Given the description of an element on the screen output the (x, y) to click on. 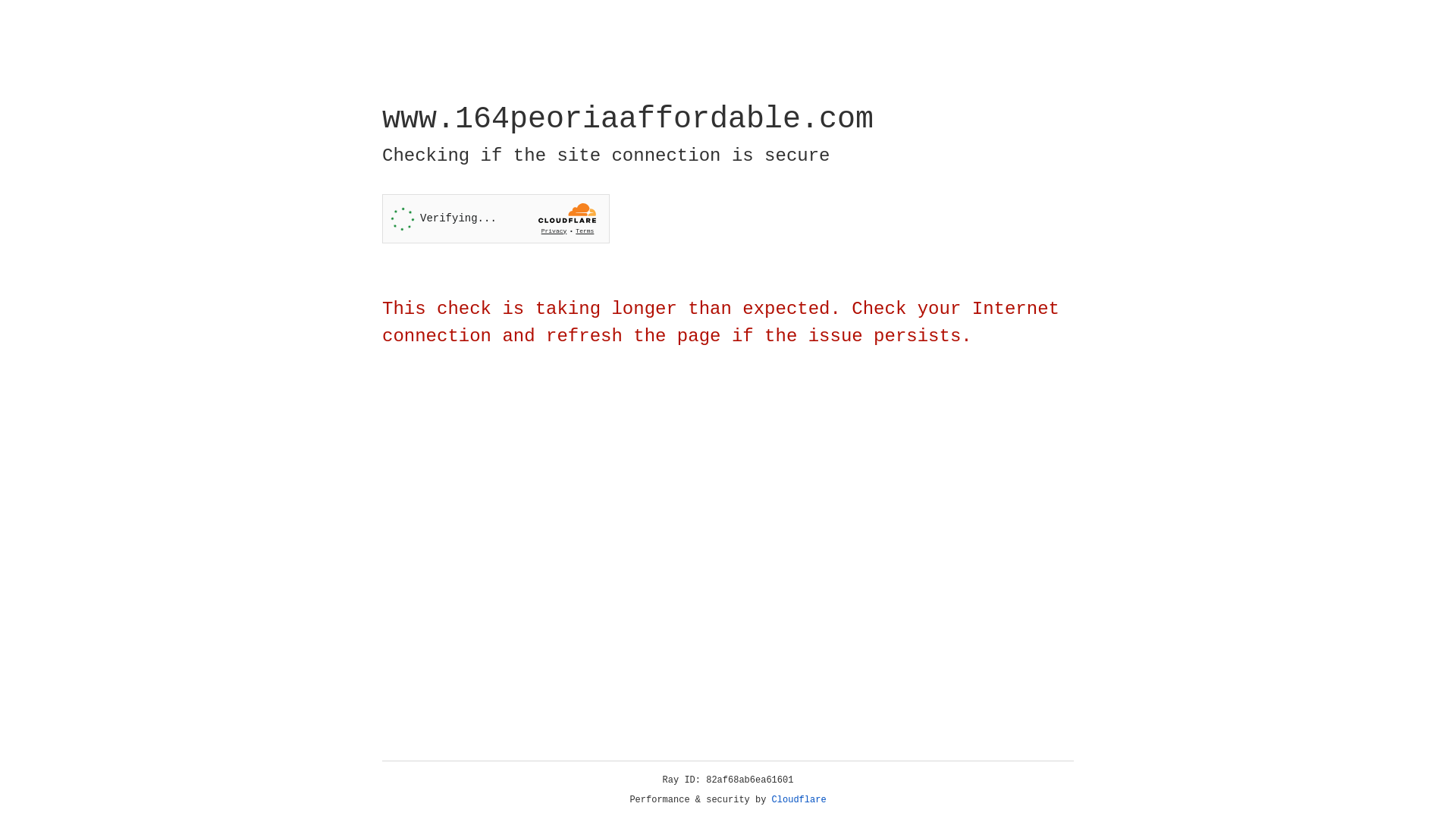
Cloudflare Element type: text (798, 799)
Widget containing a Cloudflare security challenge Element type: hover (495, 218)
